Given the description of an element on the screen output the (x, y) to click on. 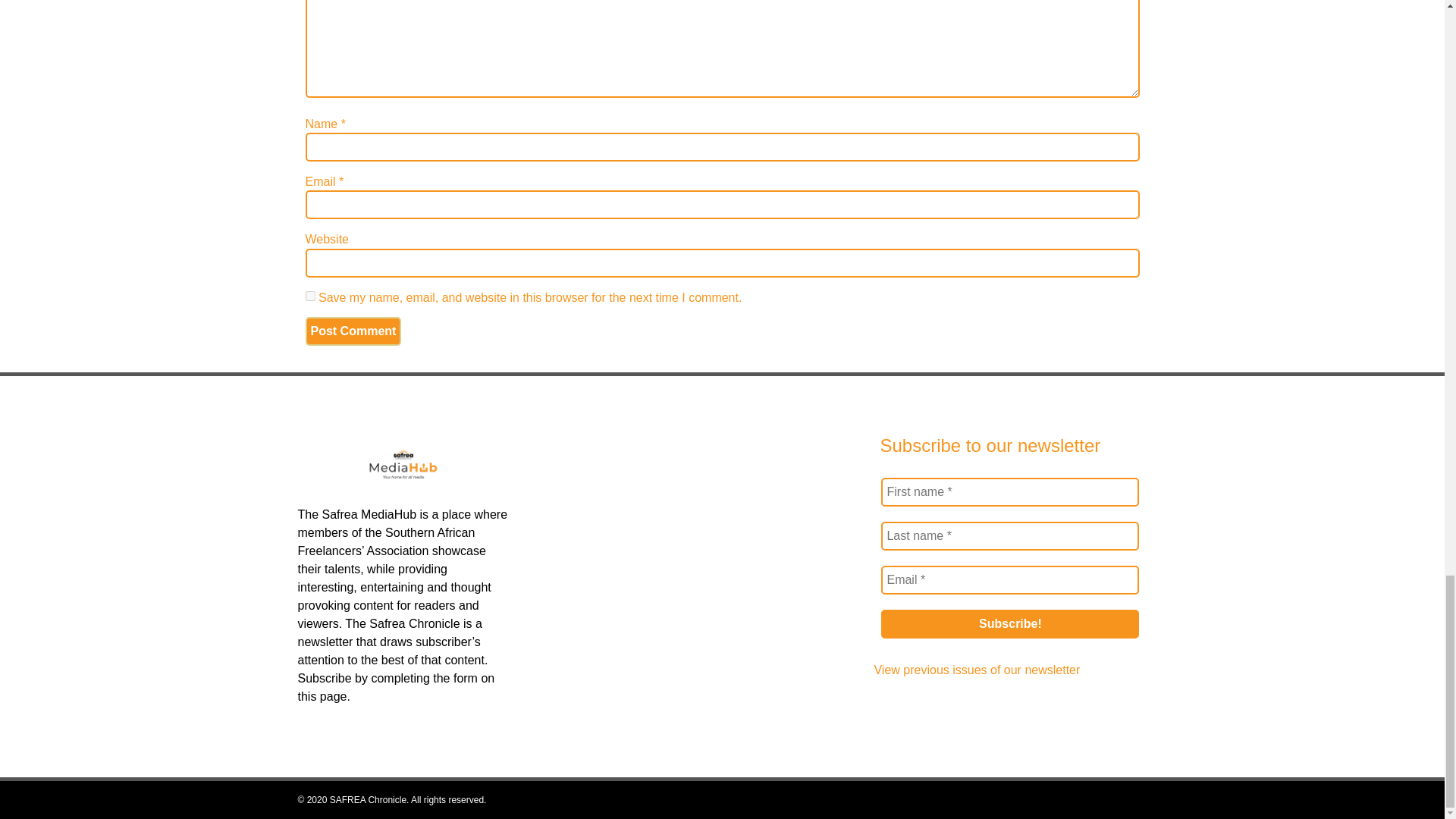
yes (309, 296)
Post Comment (352, 330)
Email (1009, 579)
First name (1009, 491)
Subscribe! (1009, 623)
Last name (1009, 535)
